Given the description of an element on the screen output the (x, y) to click on. 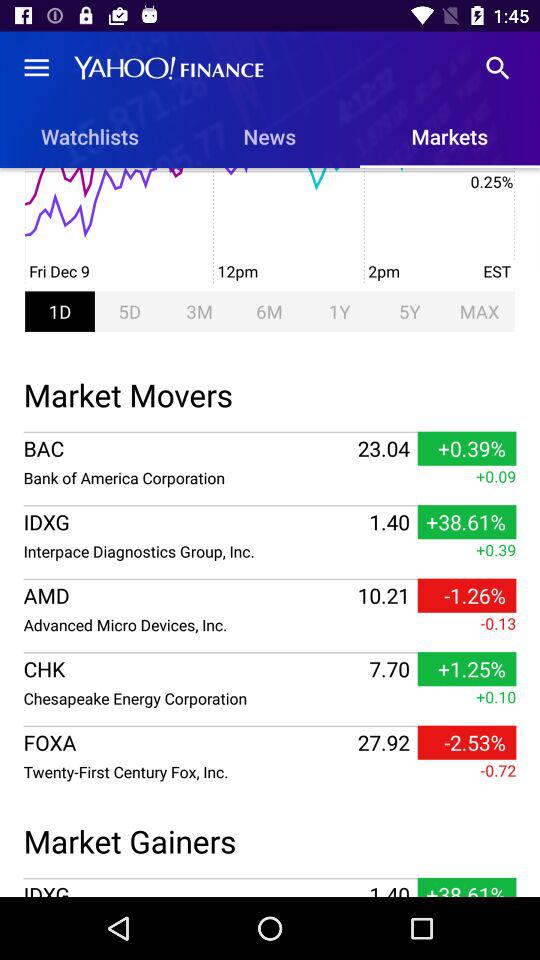
turn on the icon to the left of 23.04 icon (187, 448)
